Given the description of an element on the screen output the (x, y) to click on. 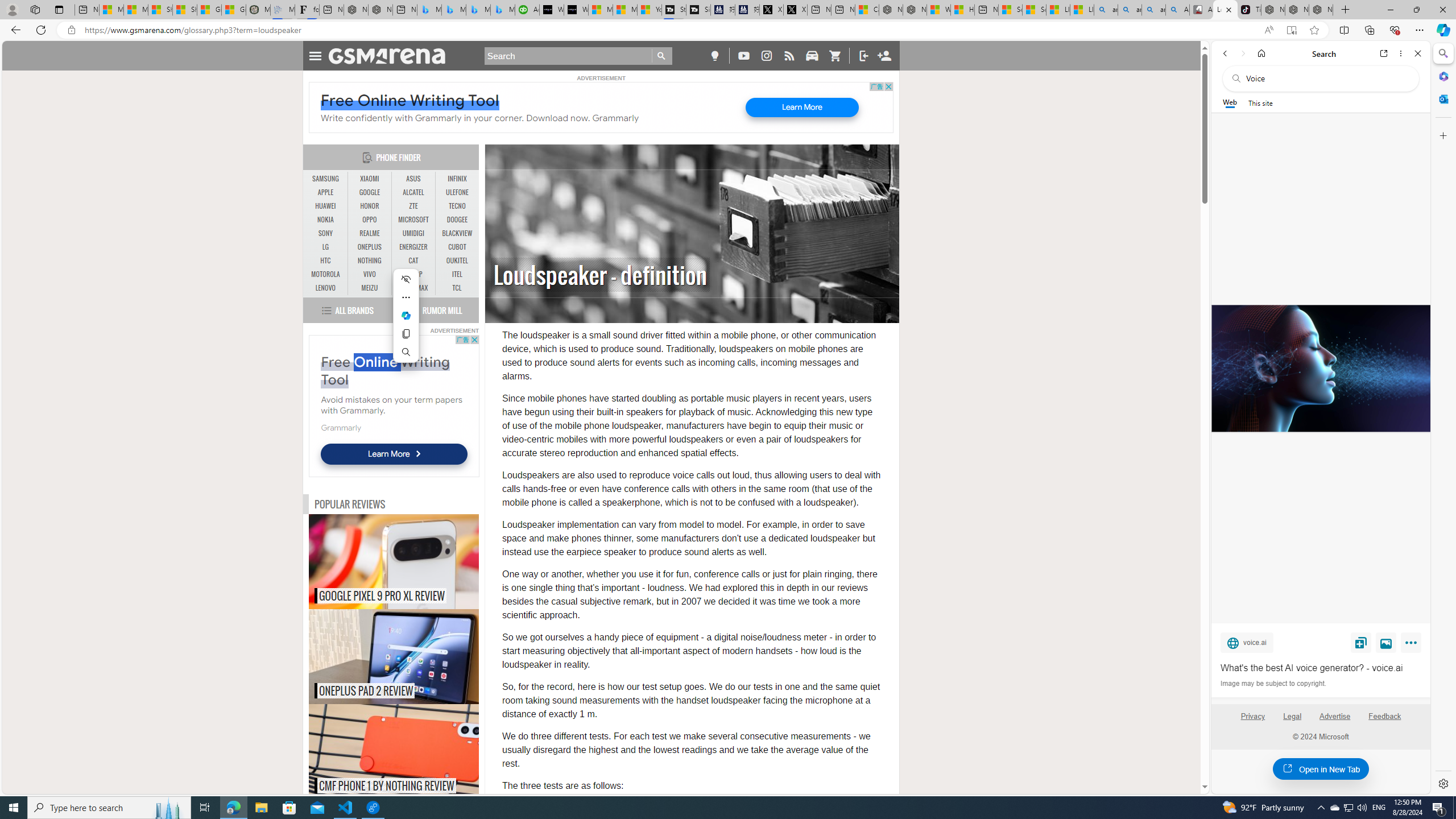
MOTOROLA (325, 273)
Forward (1242, 53)
HUAWEI (325, 206)
ONEPLUS (369, 246)
Feedback (1384, 720)
Wildlife - MSN (938, 9)
Shanghai, China weather forecast | Microsoft Weather (184, 9)
View image (1385, 642)
ONEPLUS (369, 246)
LENOVO (325, 287)
SONY (325, 233)
